Given the description of an element on the screen output the (x, y) to click on. 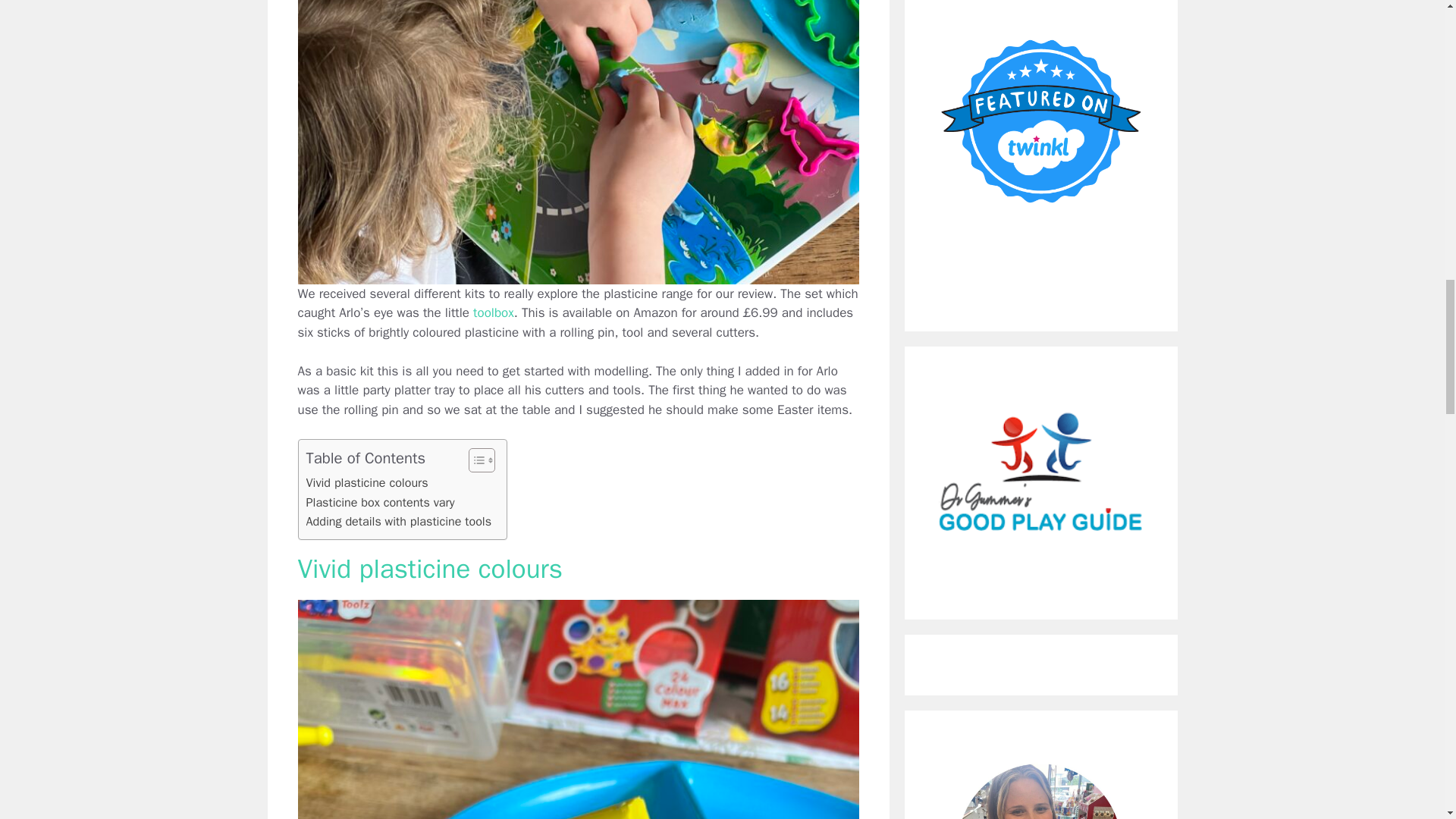
toolbox (493, 312)
Vivid plasticine colours (366, 483)
Vivid plasticine colours (366, 483)
Plasticine box contents vary (379, 502)
Adding details with plasticine tools (398, 521)
Adding details with plasticine tools  (398, 521)
Plasticine box contents vary  (379, 502)
